Given the description of an element on the screen output the (x, y) to click on. 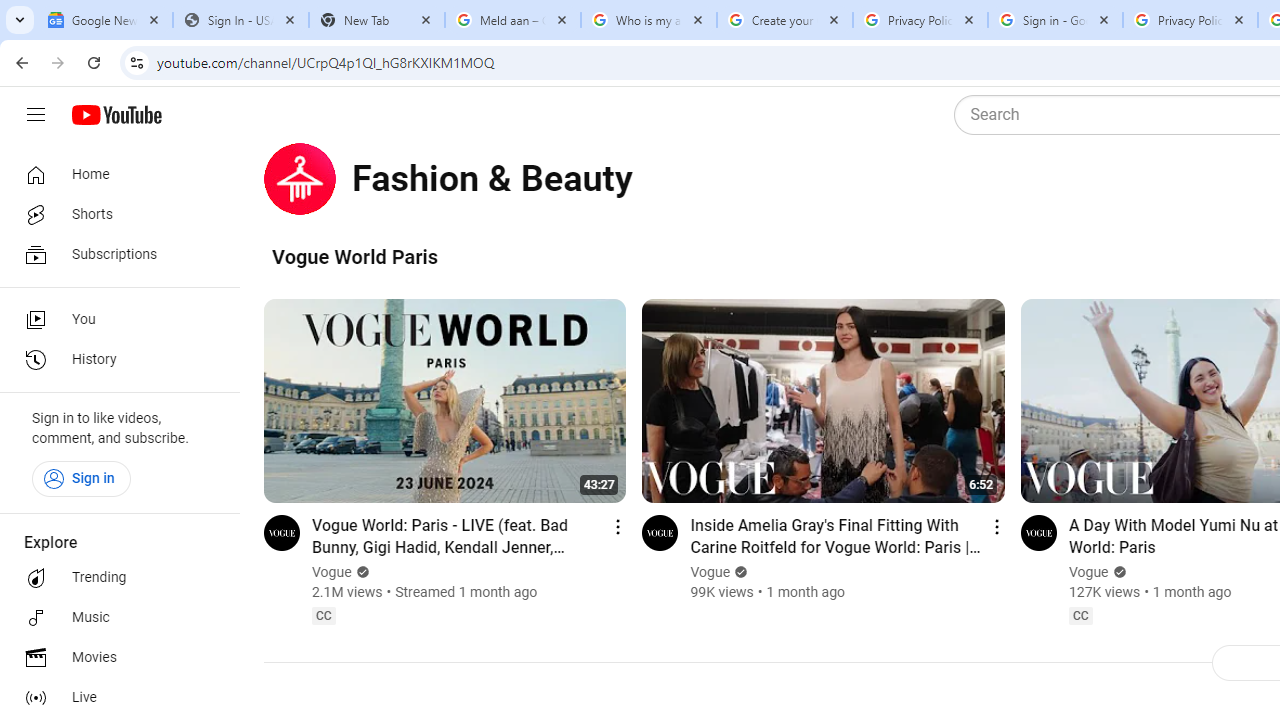
Guide (35, 115)
YouTube Home (116, 115)
Verified (1117, 572)
Vogue World Paris (355, 256)
Subscriptions (113, 254)
Closed captions (1080, 615)
History (113, 359)
Home (113, 174)
Who is my administrator? - Google Account Help (648, 20)
Music (113, 617)
